Given the description of an element on the screen output the (x, y) to click on. 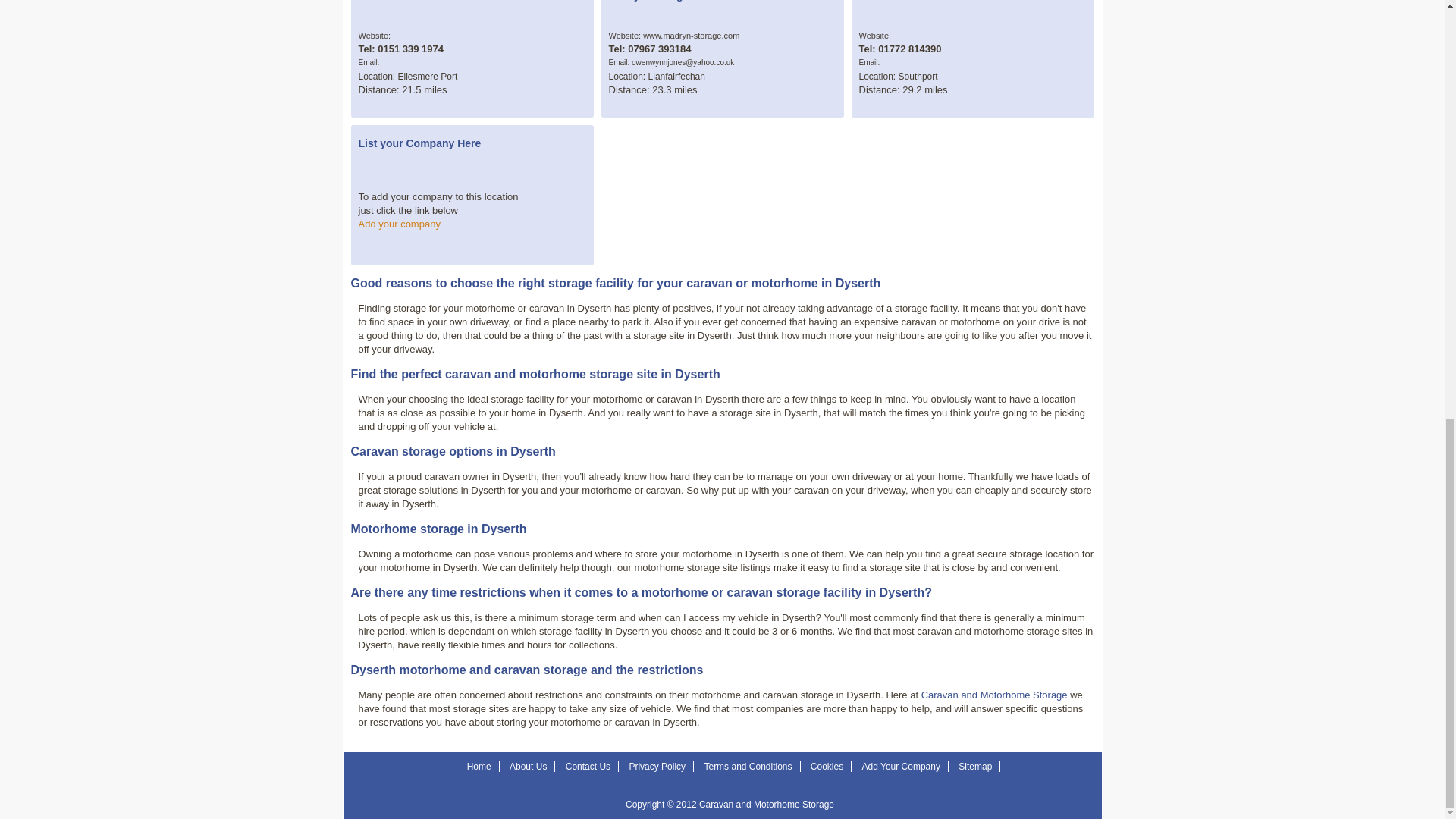
Terms and Conditions (747, 766)
Home (479, 766)
Sitemap (974, 766)
Cookies (826, 766)
Privacy Policy (656, 766)
About Us (528, 766)
Contact Us (588, 766)
Add Your Company (900, 766)
Add your company (398, 224)
